Given the description of an element on the screen output the (x, y) to click on. 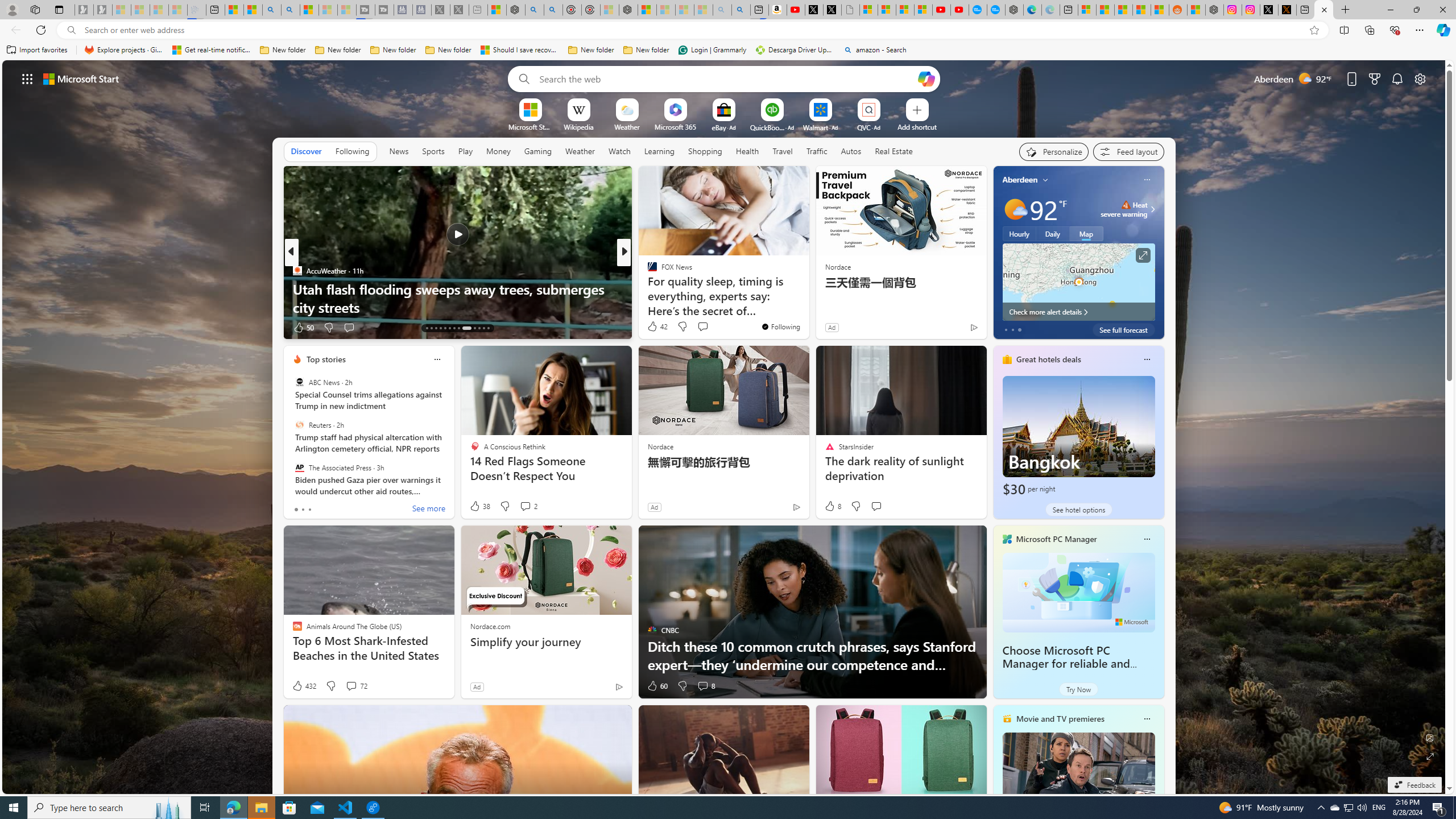
Health (746, 151)
Shanghai, China Weather trends | Microsoft Weather (1159, 9)
New tab - Sleeping (478, 9)
The most popular Google 'how to' searches (996, 9)
Edit Background (1430, 737)
See more (428, 509)
Money (497, 151)
tab-1 (302, 509)
Expand background (1430, 756)
amazon - Search (875, 49)
